Given the description of an element on the screen output the (x, y) to click on. 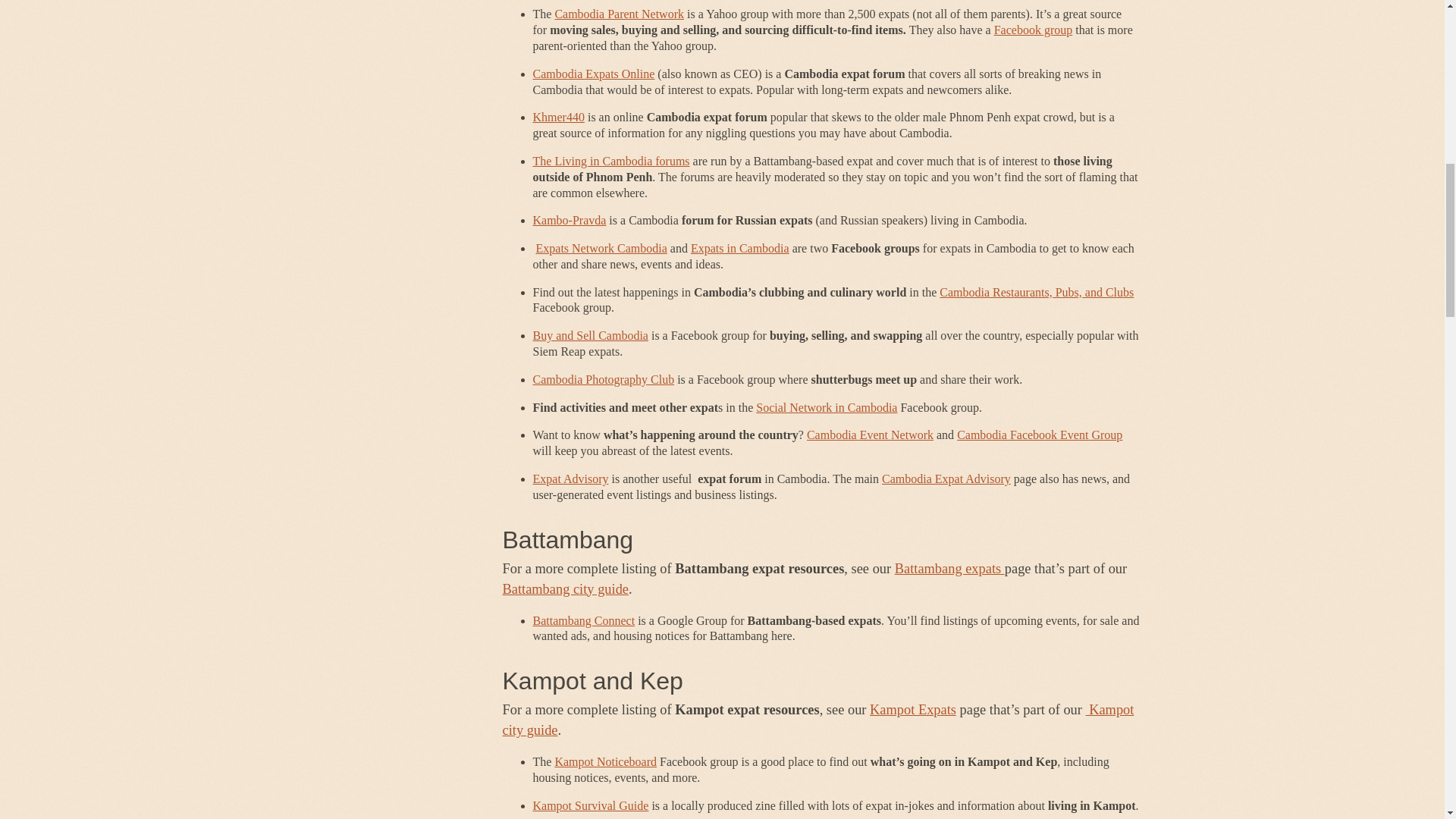
Cambodia Restaurants, Pubs, and Clubs (1036, 291)
The Living in Cambodia forums (610, 160)
Social Network in Cambodia (825, 407)
Cambodia Photography Club (603, 379)
Cambodia Expat Advisory (946, 478)
Khmer440 (557, 116)
Buy and Sell Cambodia (589, 335)
Expats in Cambodia (739, 247)
Expat Advisory (570, 478)
Cambodia Event Network (869, 434)
Kambo-Pravda (568, 219)
Expats Network Cambodia (600, 247)
Battambang expats (949, 568)
Cambodia Expats Online (592, 73)
Battambang Connect (583, 620)
